Given the description of an element on the screen output the (x, y) to click on. 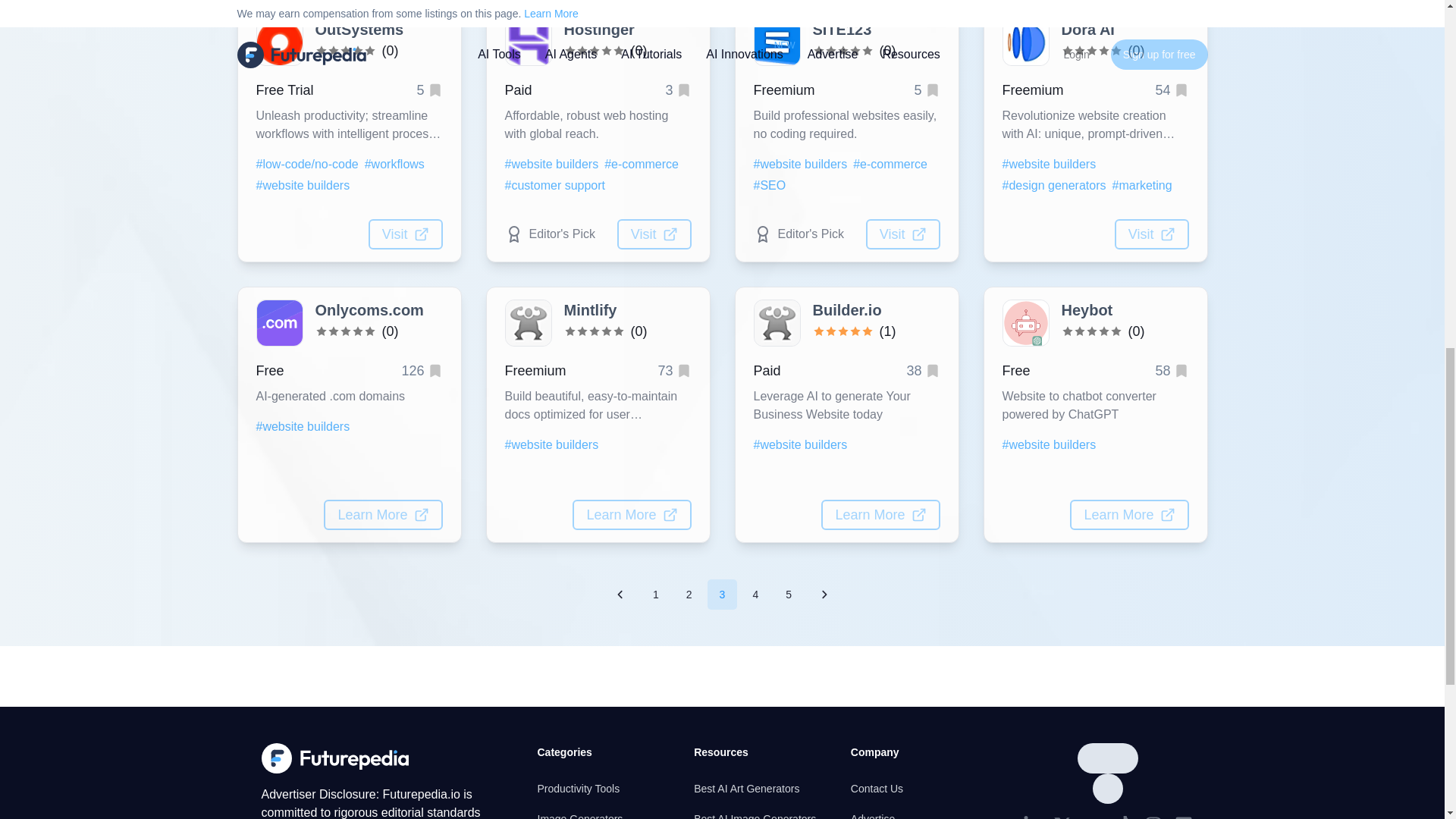
2 (689, 594)
Next (823, 594)
5 (788, 594)
1 (655, 594)
3 (722, 594)
4 (754, 594)
Previous (619, 594)
